Given the description of an element on the screen output the (x, y) to click on. 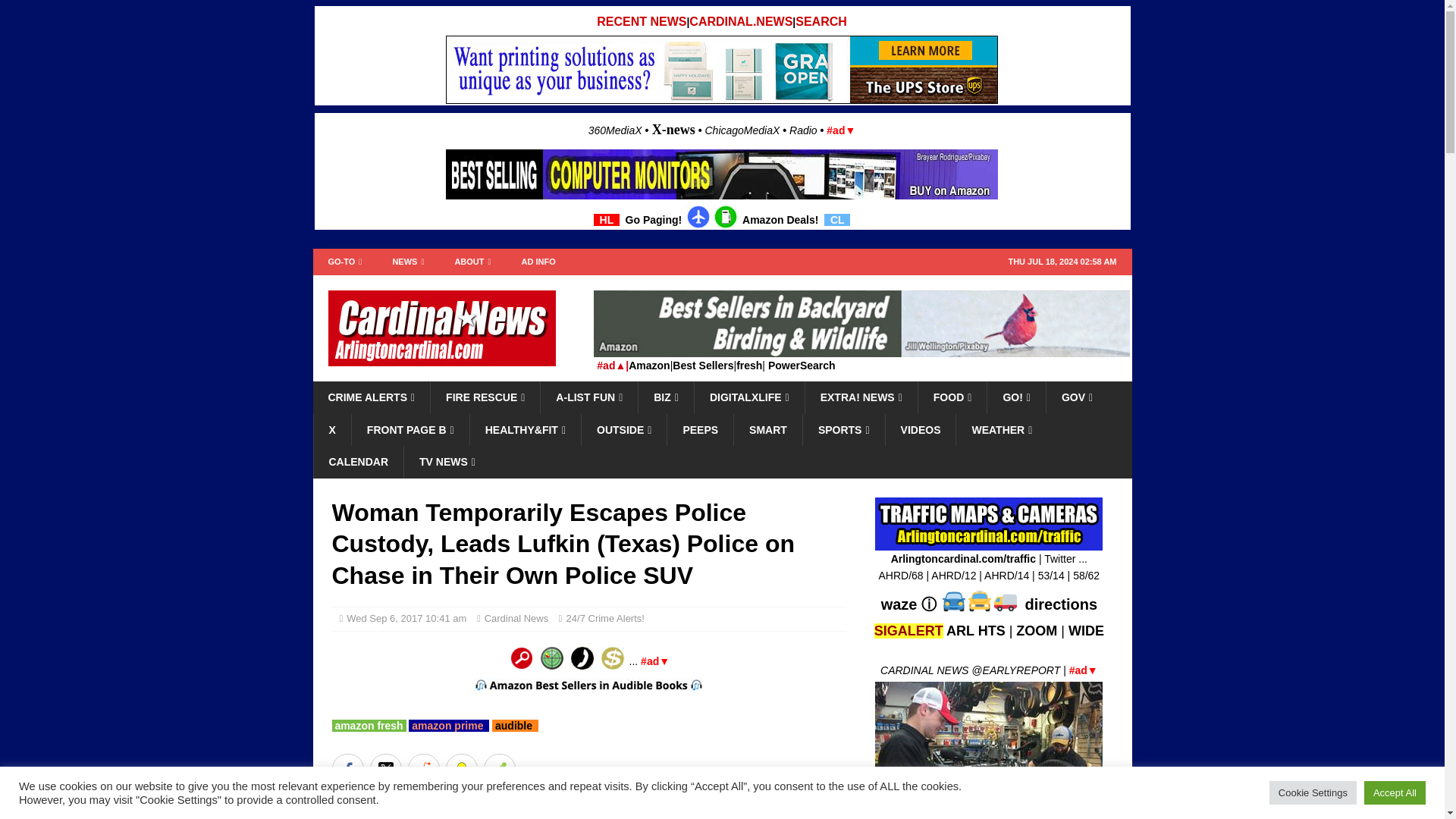
Amazon Deals! (780, 219)
  CL   (837, 219)
ChicagoMediaX (742, 130)
X-news (673, 129)
360MediaX (616, 130)
RECENT NEWS (640, 21)
CARDINAL.NEWS (740, 21)
SEARCH (820, 21)
Go Paging! (654, 219)
  HL   (607, 219)
Radio (802, 130)
